Given the description of an element on the screen output the (x, y) to click on. 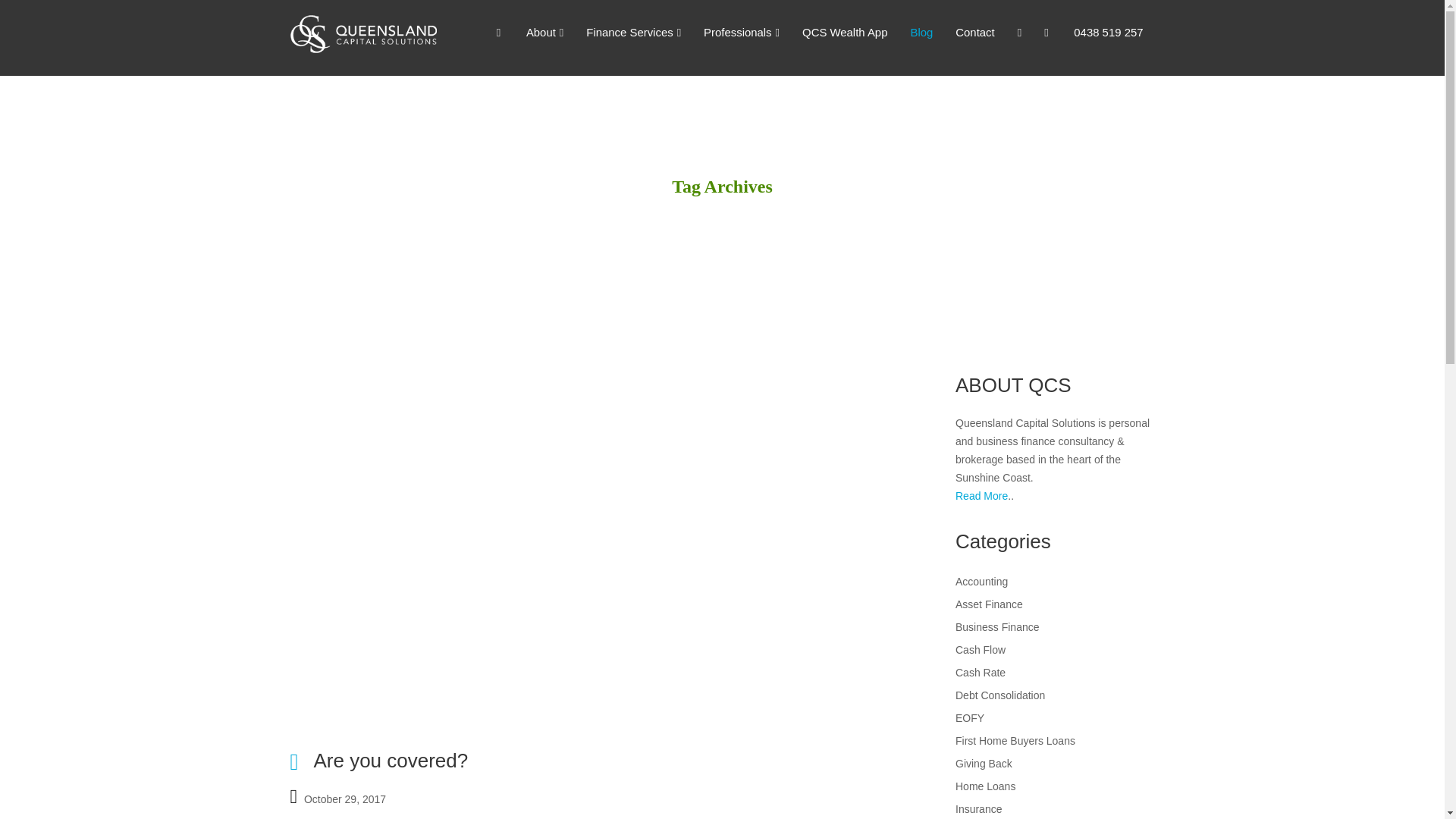
0438 519 257 (1108, 32)
About (545, 32)
8:59 pm (343, 797)
QCS Wealth App (844, 32)
October 29, 2017 (343, 797)
Accounting (981, 581)
Finance Services (634, 32)
Professionals (741, 32)
Contact (974, 32)
Are you covered? (390, 760)
Read More (981, 495)
